Given the description of an element on the screen output the (x, y) to click on. 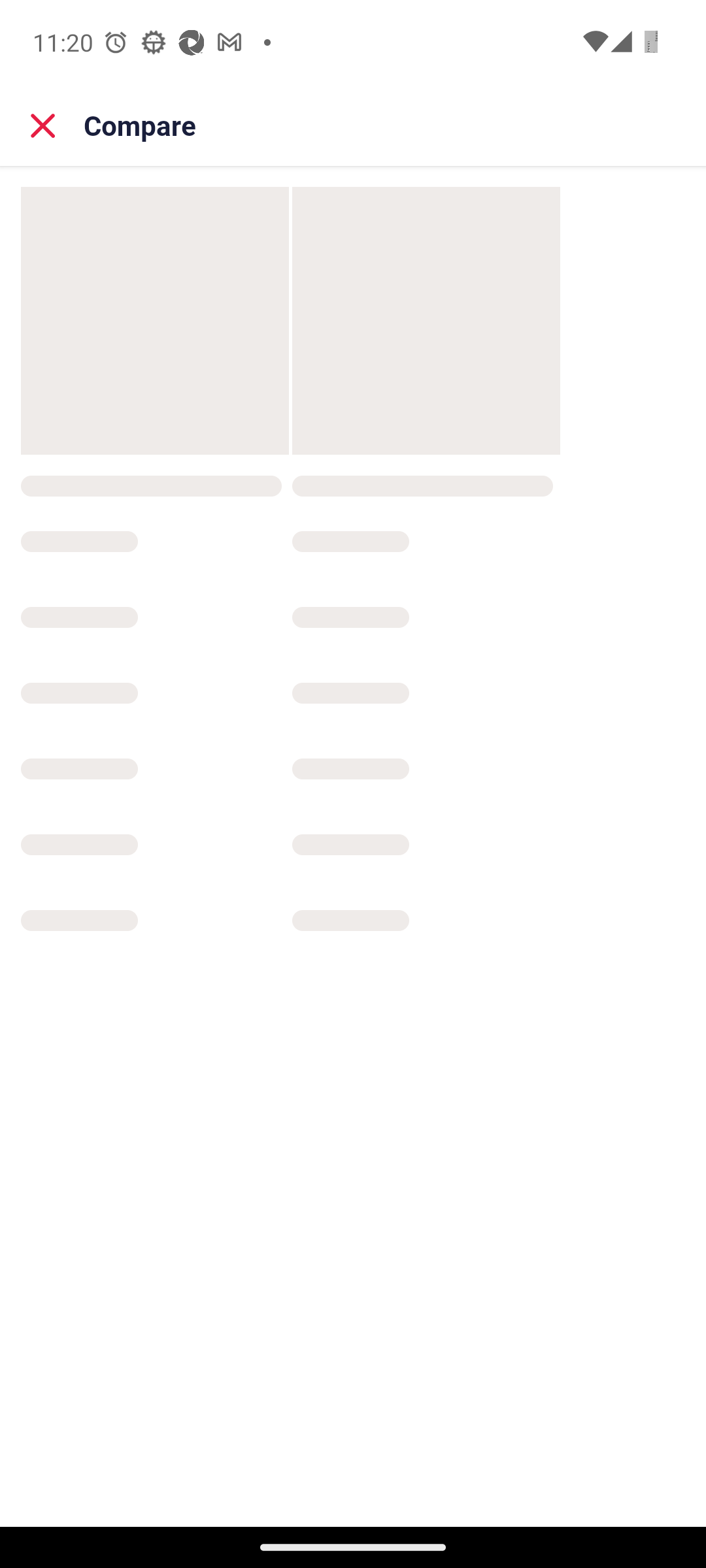
Close, back to property search. (43, 125)
